Given the description of an element on the screen output the (x, y) to click on. 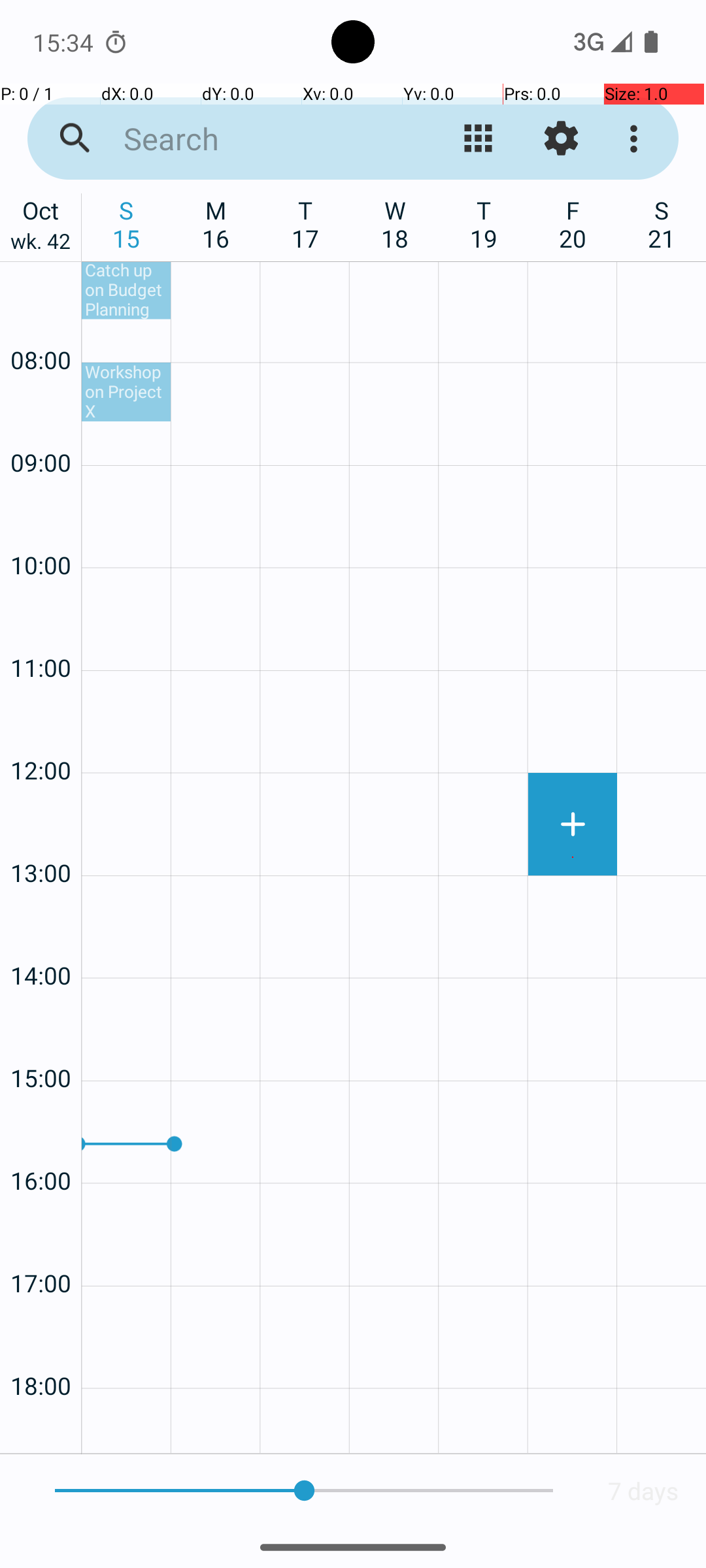
wk. 42 Element type: android.widget.TextView (40, 243)
M
16 Element type: android.widget.TextView (215, 223)
T
17 Element type: android.widget.TextView (305, 223)
W
18 Element type: android.widget.TextView (394, 223)
T
19 Element type: android.widget.TextView (483, 223)
F
20 Element type: android.widget.TextView (572, 223)
S
21 Element type: android.widget.TextView (661, 223)
